Given the description of an element on the screen output the (x, y) to click on. 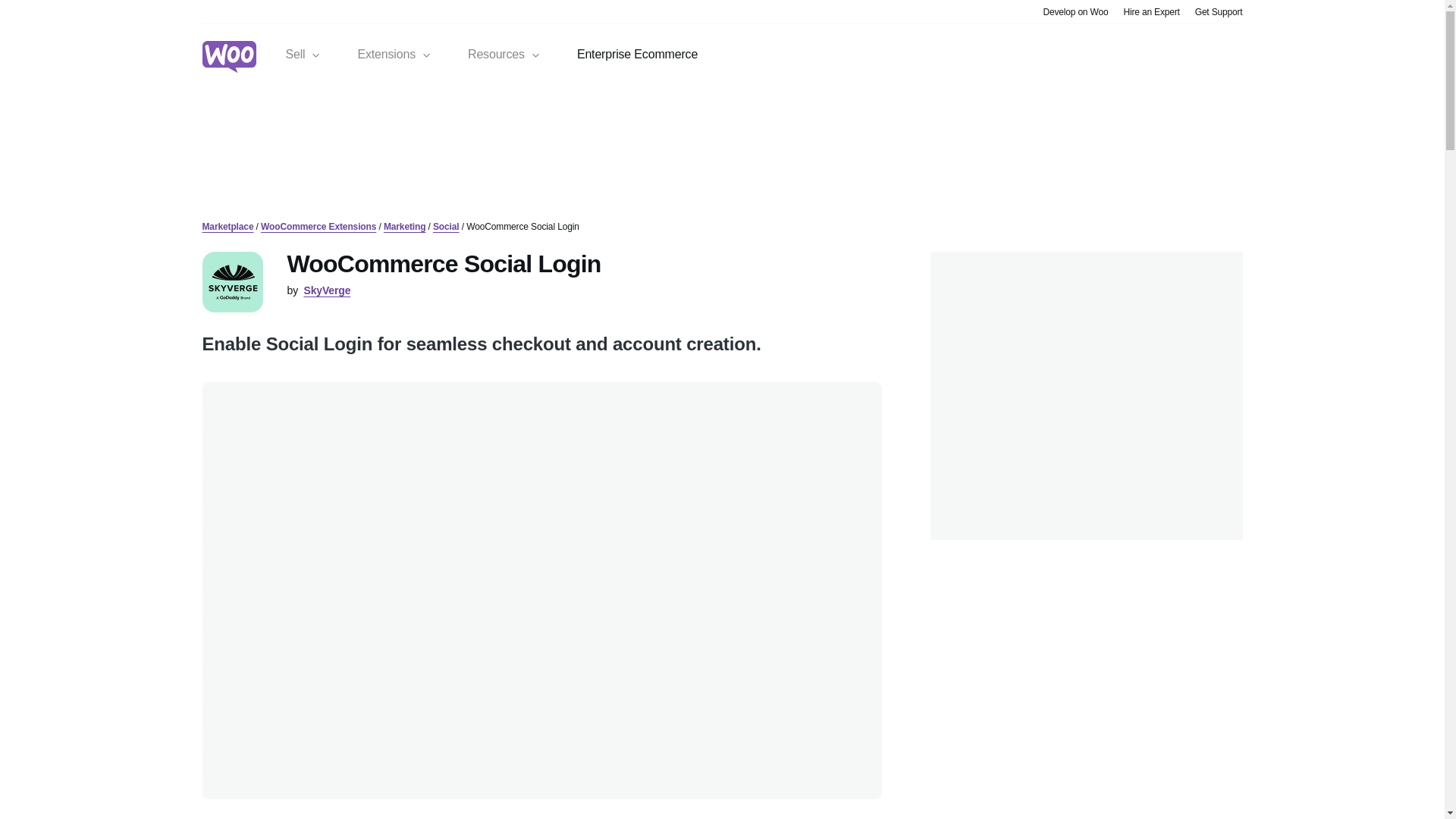
Social (446, 226)
Get Support (1219, 11)
Marketplace (227, 226)
Develop on Woo (1075, 11)
Extensions (394, 54)
Marketing (405, 226)
SkyVerge (326, 290)
Resources (504, 54)
WooCommerce Extensions (317, 226)
Sell (302, 54)
Enterprise Ecommerce (637, 54)
Hire an Expert (1150, 11)
